Given the description of an element on the screen output the (x, y) to click on. 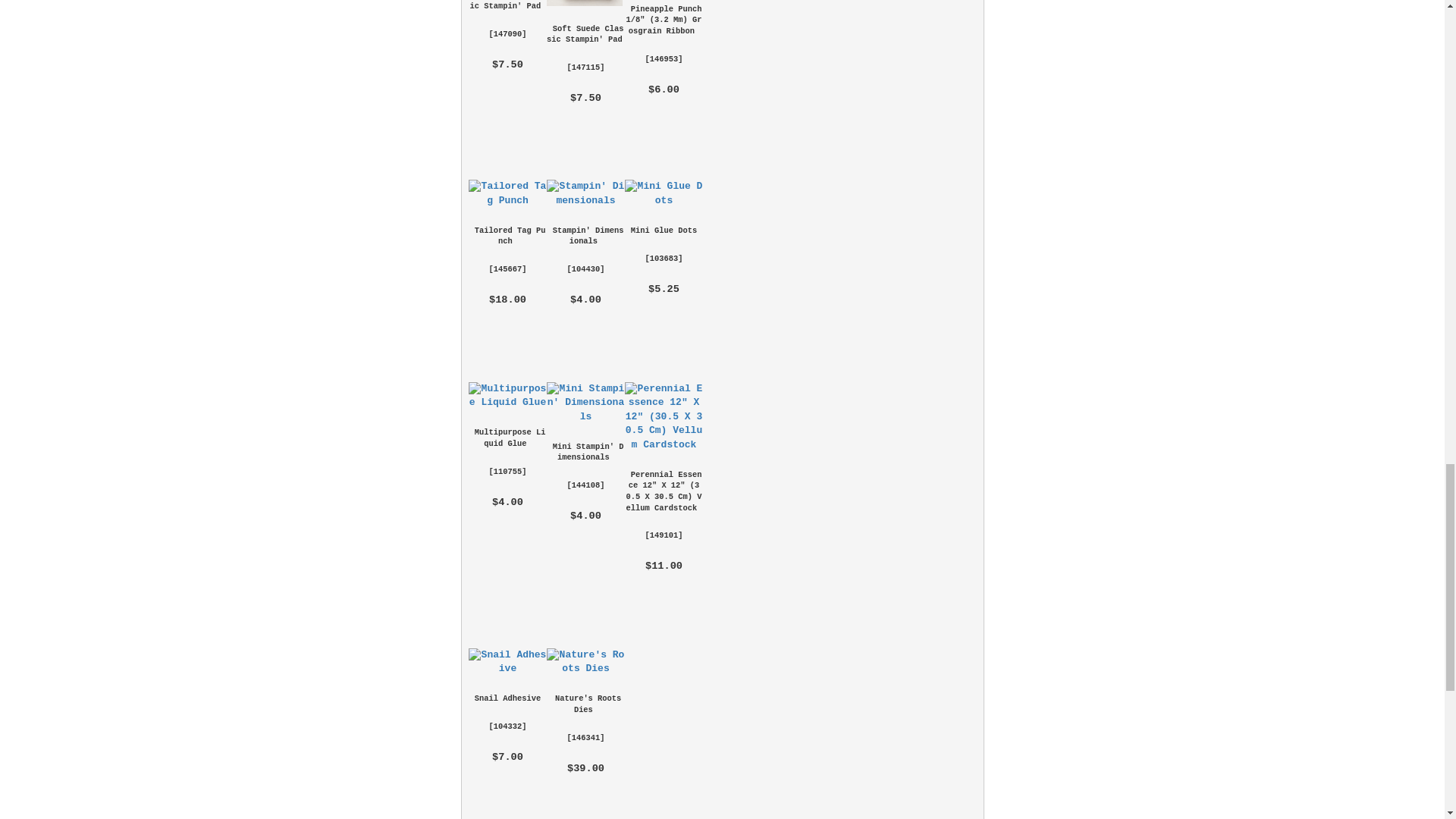
Soft Suede Classic Stampin' Pad (585, 34)
147115 (585, 67)
147090 (507, 33)
146953 (663, 58)
Old Olive Classic Stampin' Pad (508, 5)
